Given the description of an element on the screen output the (x, y) to click on. 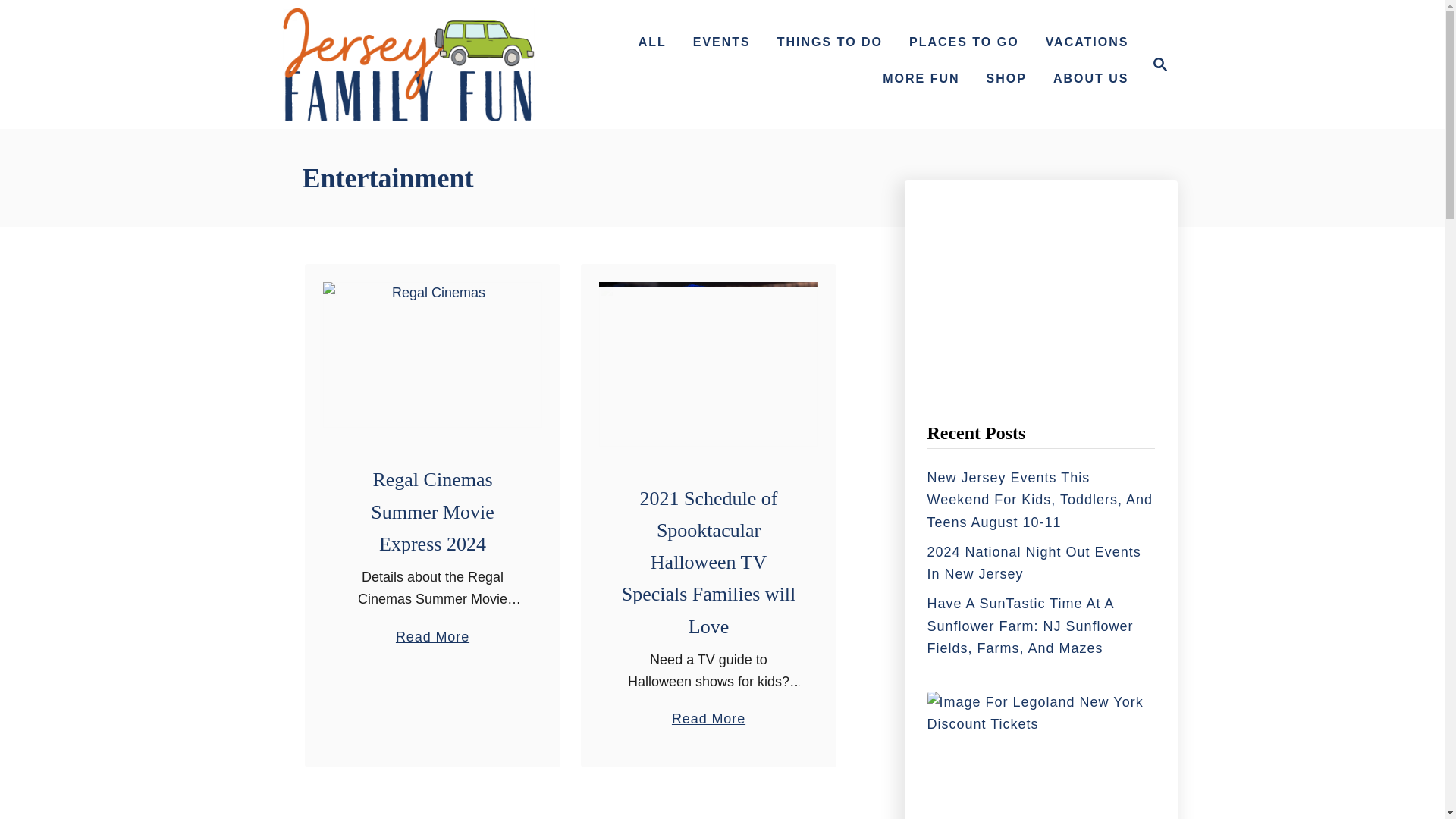
PLACES TO GO (963, 41)
ALL (652, 41)
EVENTS (721, 41)
ABOUT US (1091, 78)
MORE FUN (920, 78)
VACATIONS (1155, 64)
SHOP (1087, 41)
Magnifying Glass (1005, 78)
Jersey Family Fun (1160, 64)
Regal Cinemas Summer Movie Express 2024 (408, 64)
THINGS TO DO (432, 354)
